Given the description of an element on the screen output the (x, y) to click on. 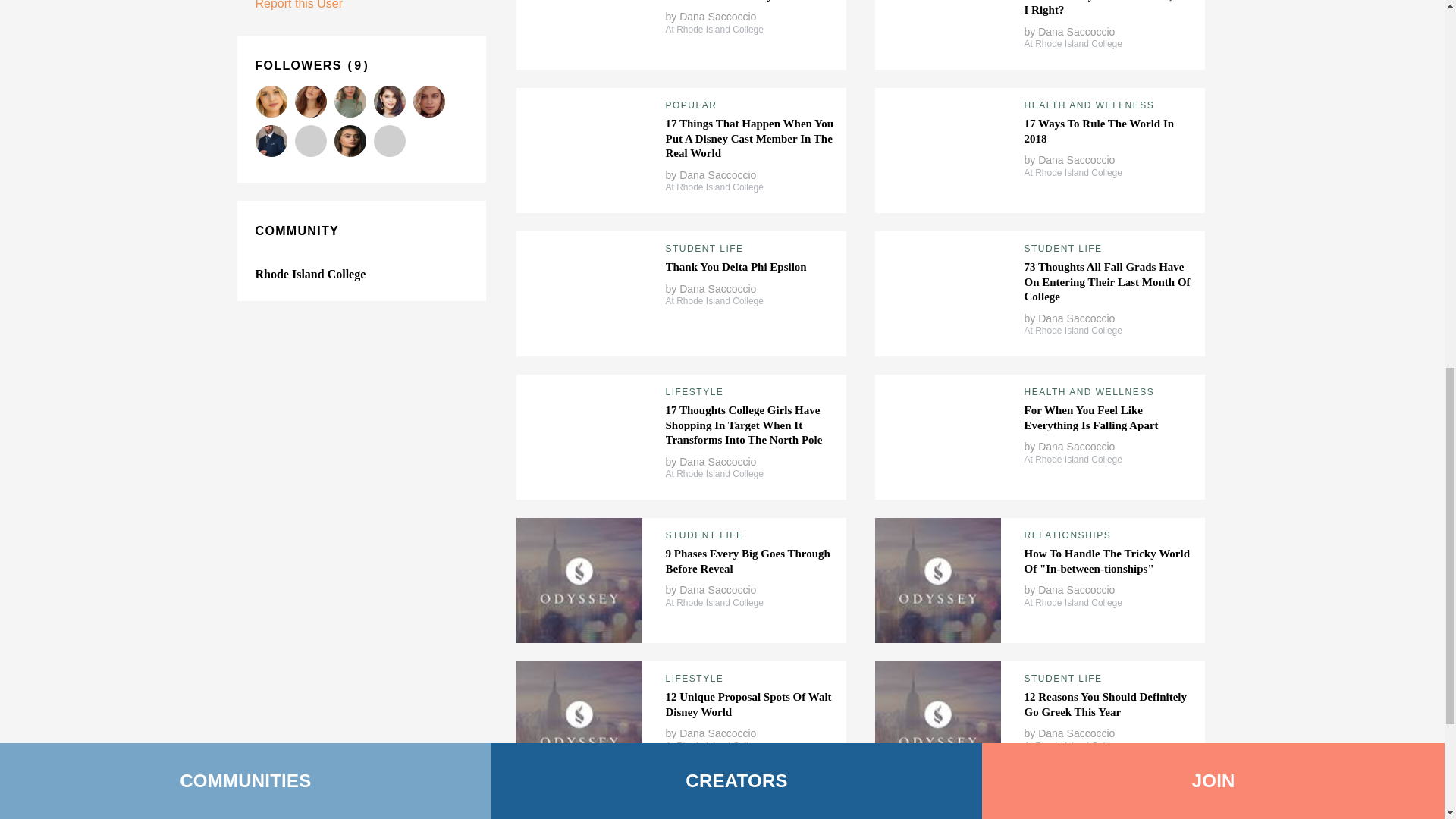
Report this User (298, 4)
GeraldBelz (270, 141)
RmanSummers (310, 101)
SaanviJones (310, 141)
KeilyPrice (428, 101)
LisaMorgan (349, 141)
AadavKiva (270, 101)
GrimesOtto (349, 101)
9 (357, 65)
JeanJames (388, 141)
